Given the description of an element on the screen output the (x, y) to click on. 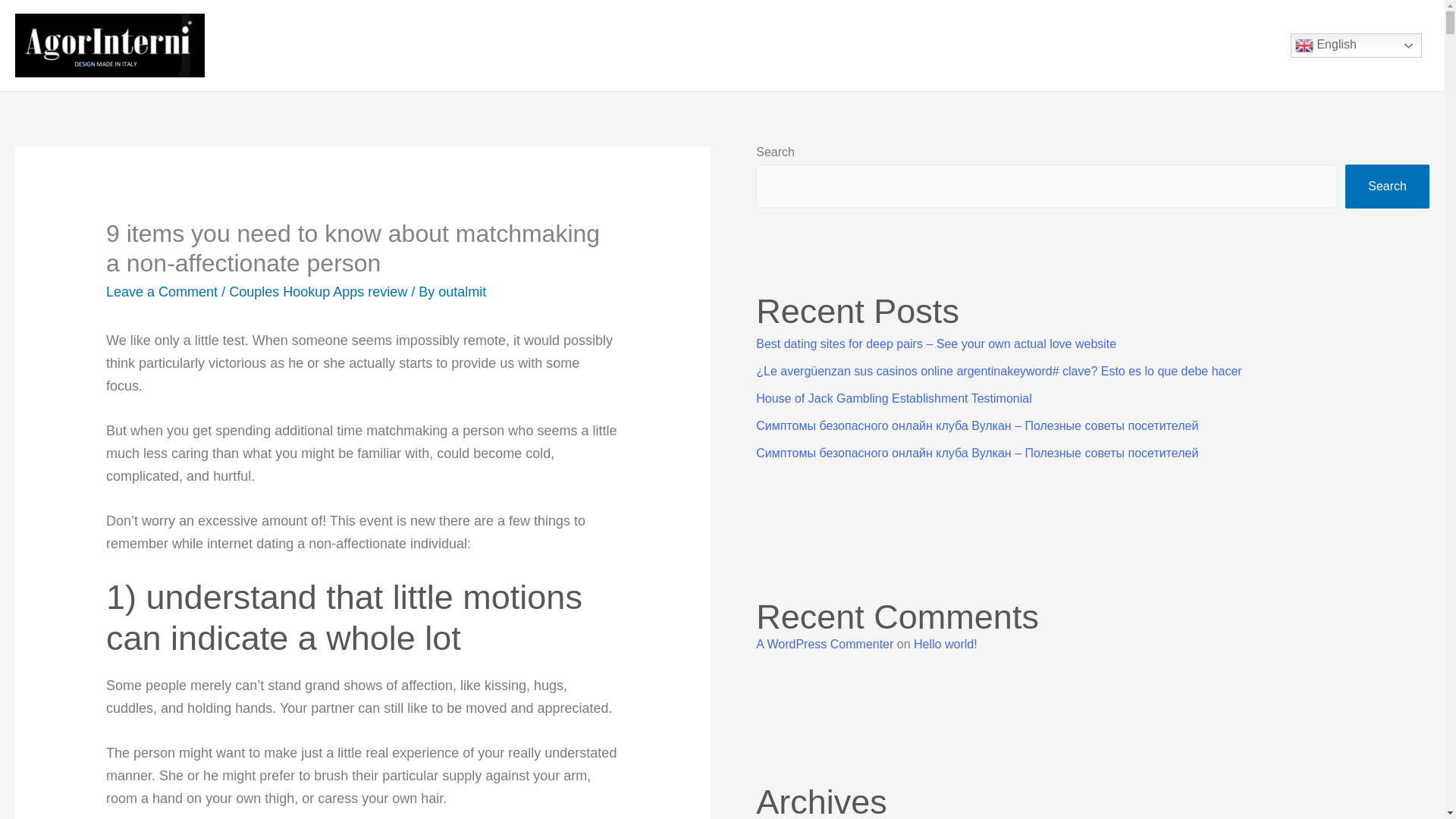
A WordPress Commenter (824, 644)
Hello world! (945, 644)
House of Jack Gambling Establishment Testimonial (892, 398)
Project (809, 45)
Company (644, 45)
Search (1387, 186)
Leave a Comment (161, 291)
outalmit (462, 291)
Brand (731, 45)
English (1356, 45)
Couples Hookup Apps review (317, 291)
View all posts by outalmit (462, 291)
